Given the description of an element on the screen output the (x, y) to click on. 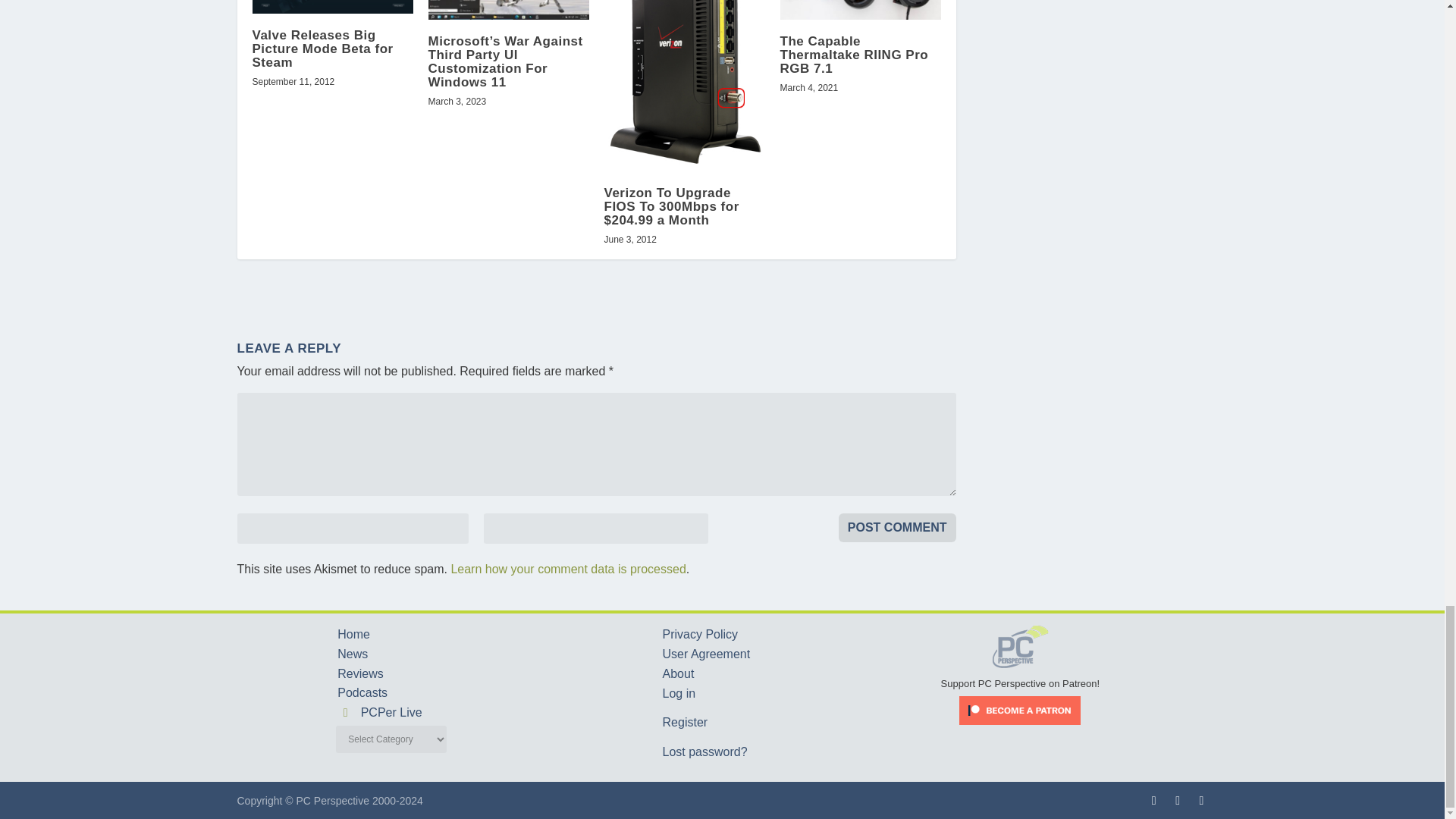
Post Comment (897, 527)
Valve Releases Big Picture Mode Beta for Steam (331, 6)
Support PC Perspective on Patreon! (1020, 676)
